Given the description of an element on the screen output the (x, y) to click on. 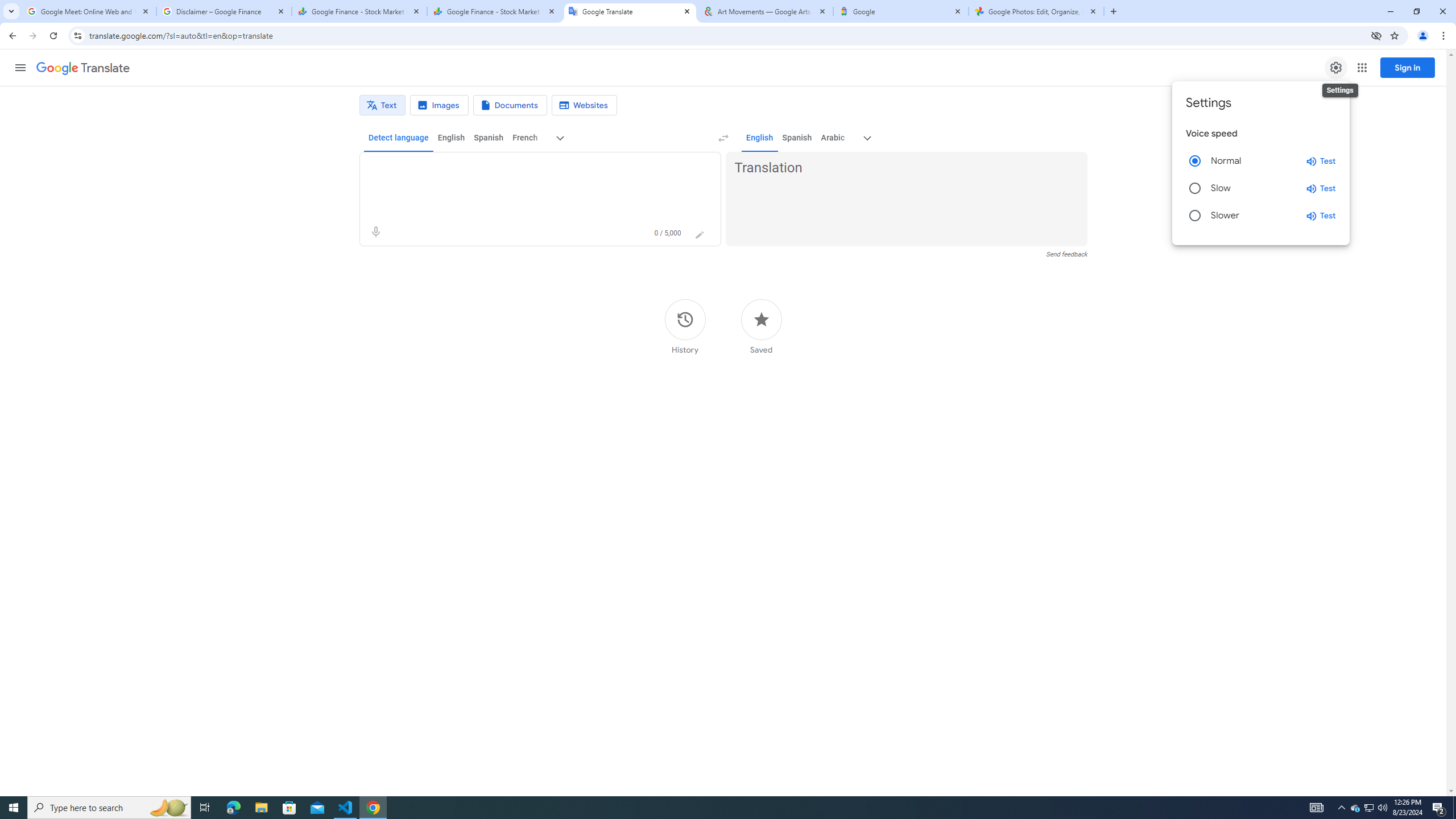
Spanish (796, 137)
Website translation (584, 105)
